Given the description of an element on the screen output the (x, y) to click on. 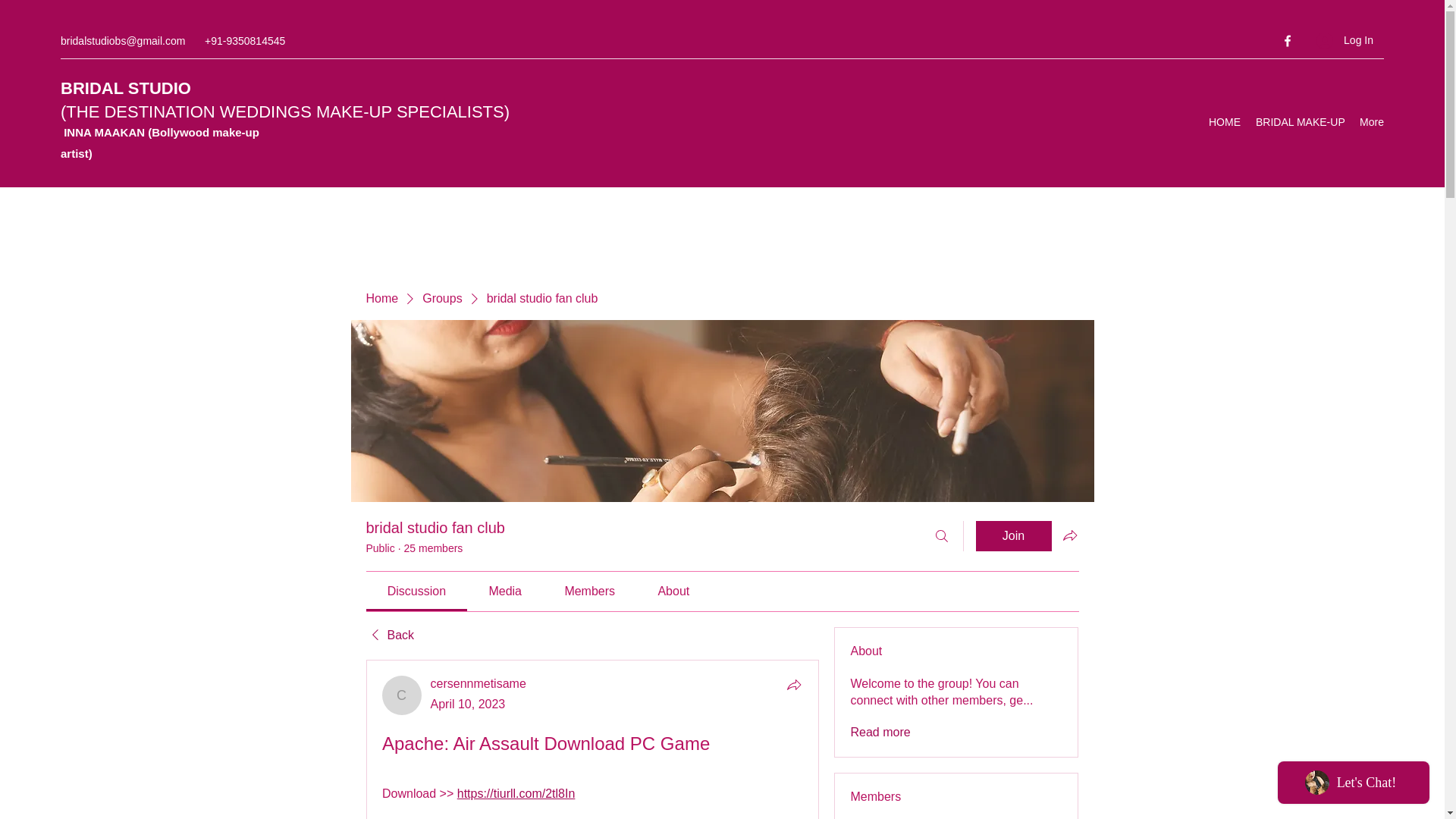
BRIDAL STUDIO (125, 87)
April 10, 2023 (467, 703)
Log In (1345, 40)
HOME (1224, 121)
Join (1013, 535)
Groups (441, 298)
cersennmetisame (401, 694)
cersennmetisame (477, 683)
cersennmetisame (477, 683)
BRIDAL MAKE-UP (1299, 121)
